Given the description of an element on the screen output the (x, y) to click on. 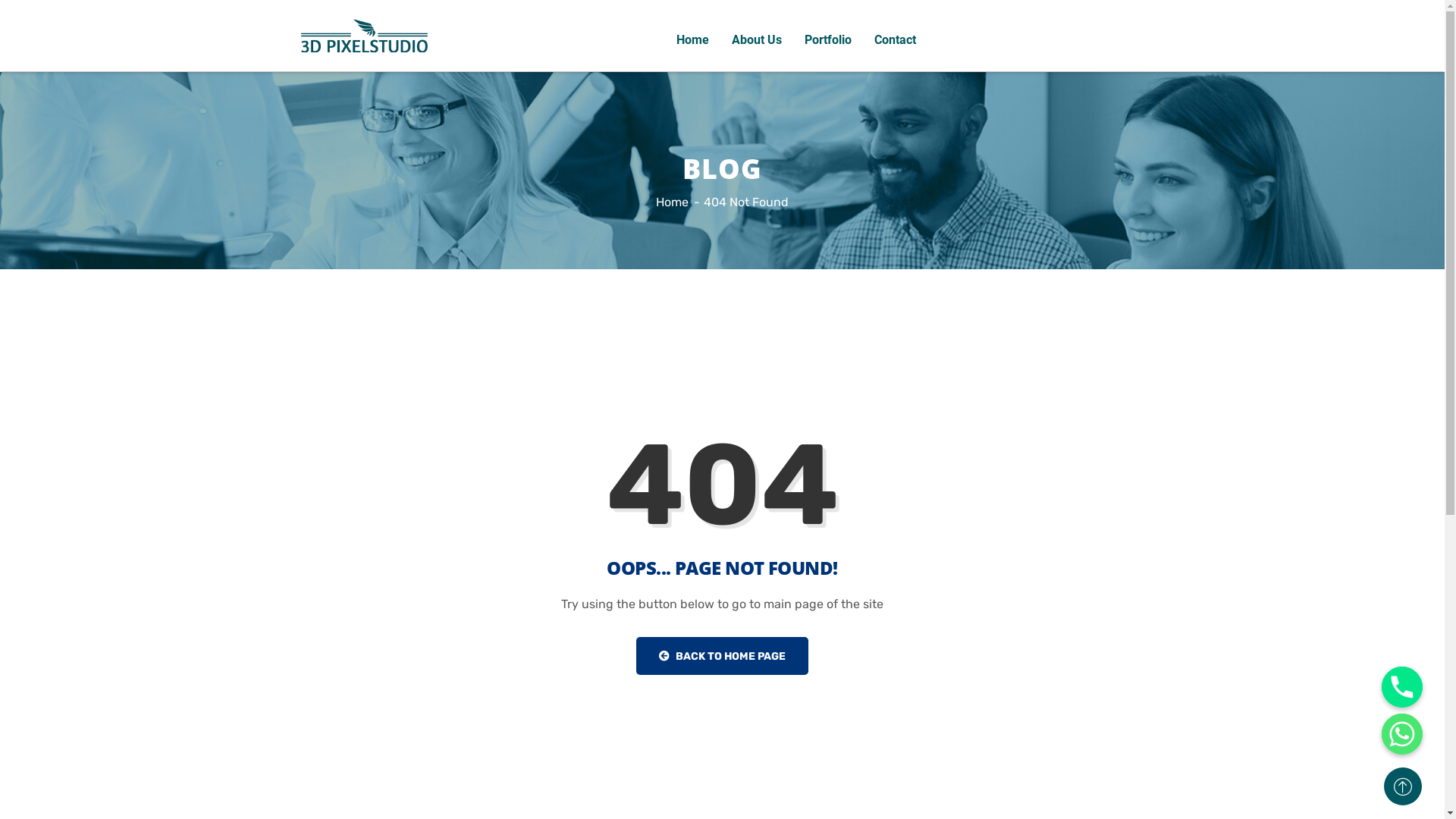
BACK TO HOME PAGE Element type: text (722, 655)
Portfolio Element type: text (827, 39)
About Us Element type: text (756, 39)
Contact Element type: text (894, 39)
Home Element type: text (671, 201)
Home Element type: text (692, 39)
